Given the description of an element on the screen output the (x, y) to click on. 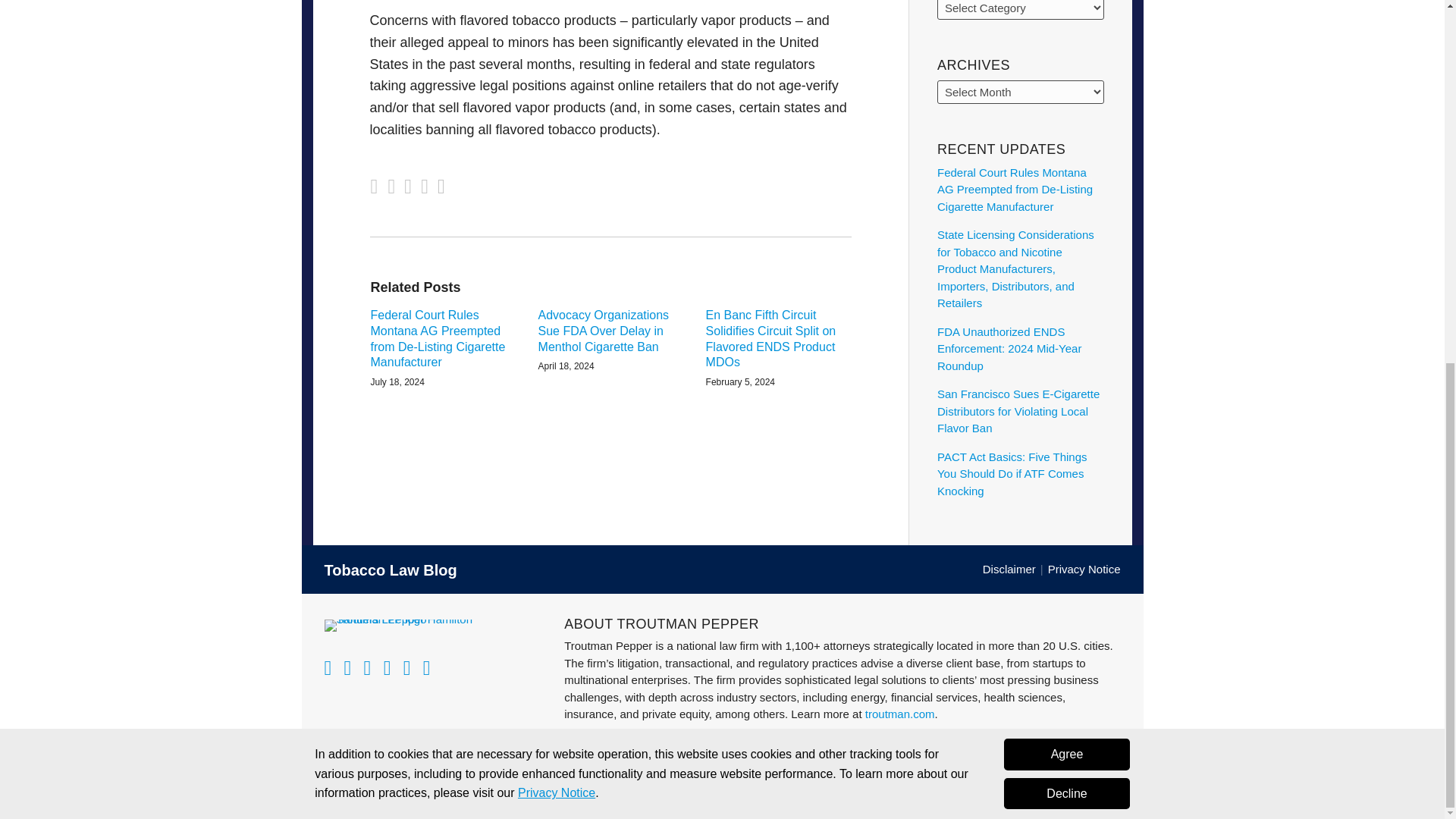
LexBlog Logo (1109, 793)
Decline (1066, 146)
Privacy Notice (556, 144)
Agree (1066, 106)
